Given the description of an element on the screen output the (x, y) to click on. 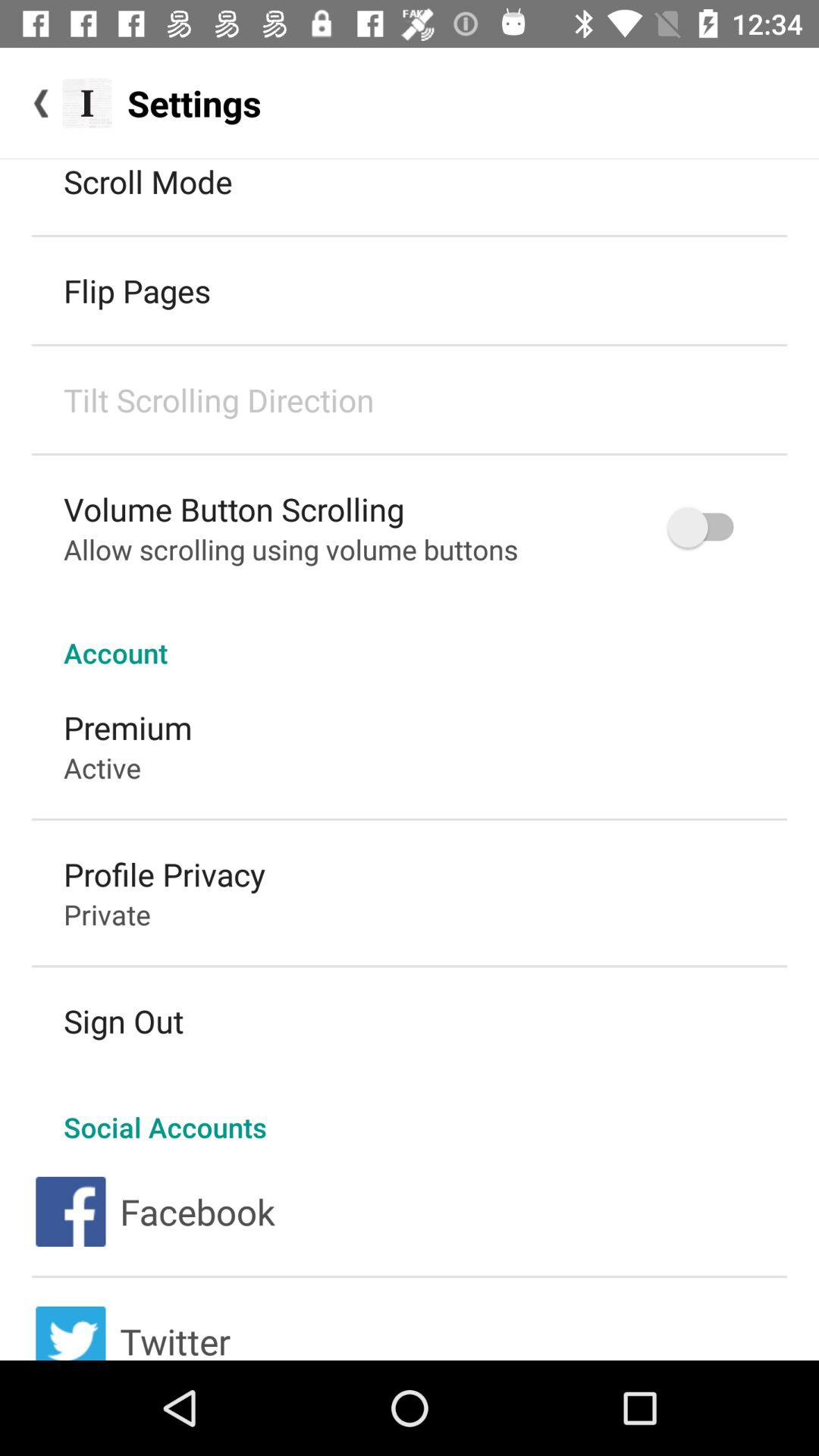
click the allow scrolling using (290, 549)
